Given the description of an element on the screen output the (x, y) to click on. 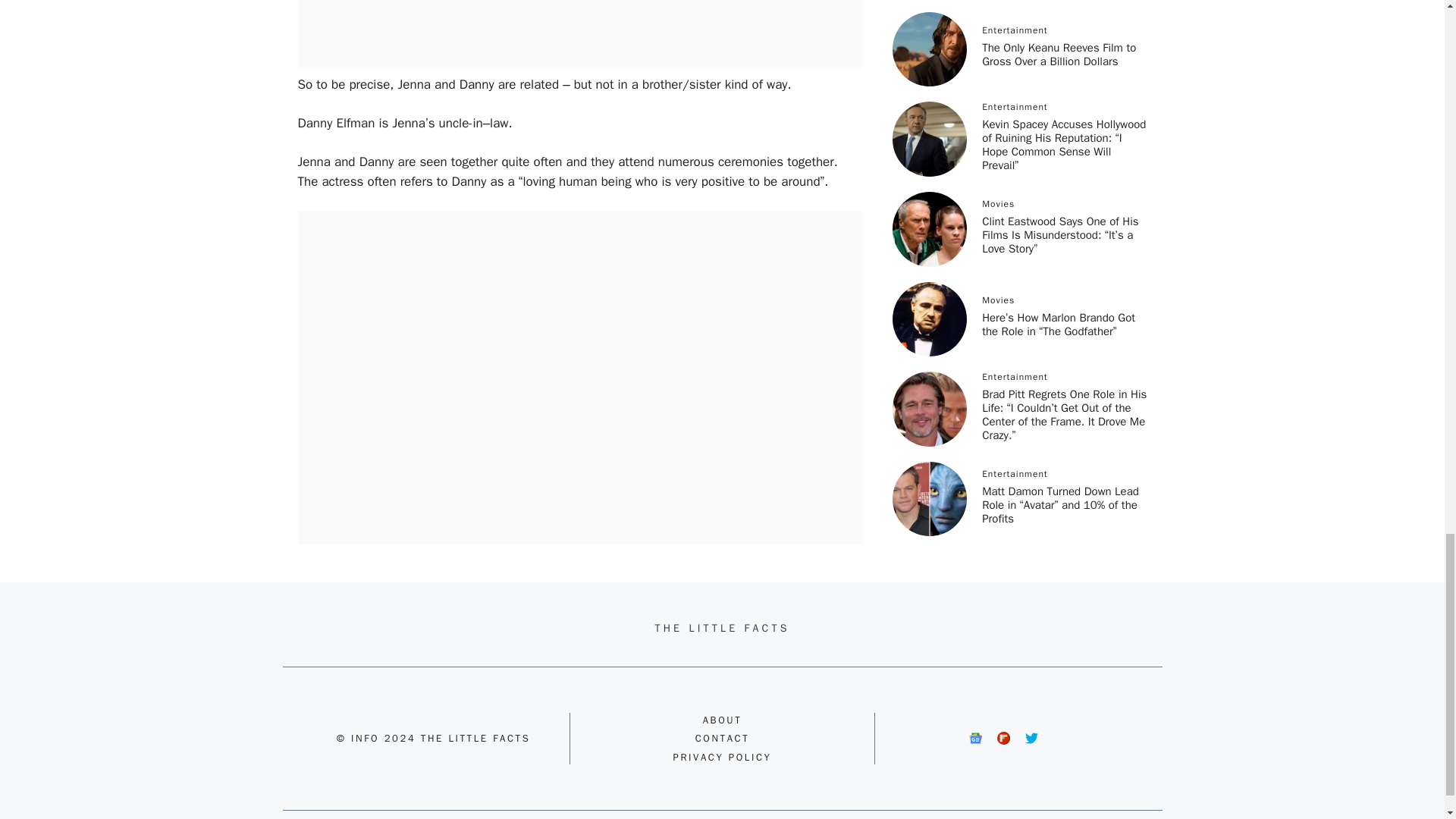
ABOUT (722, 719)
Twitter-color Created with Sketch. (1031, 738)
CONTACT (722, 738)
PRIVACY POLICY (721, 757)
Twitter-color Created with Sketch. (1031, 738)
